Given the description of an element on the screen output the (x, y) to click on. 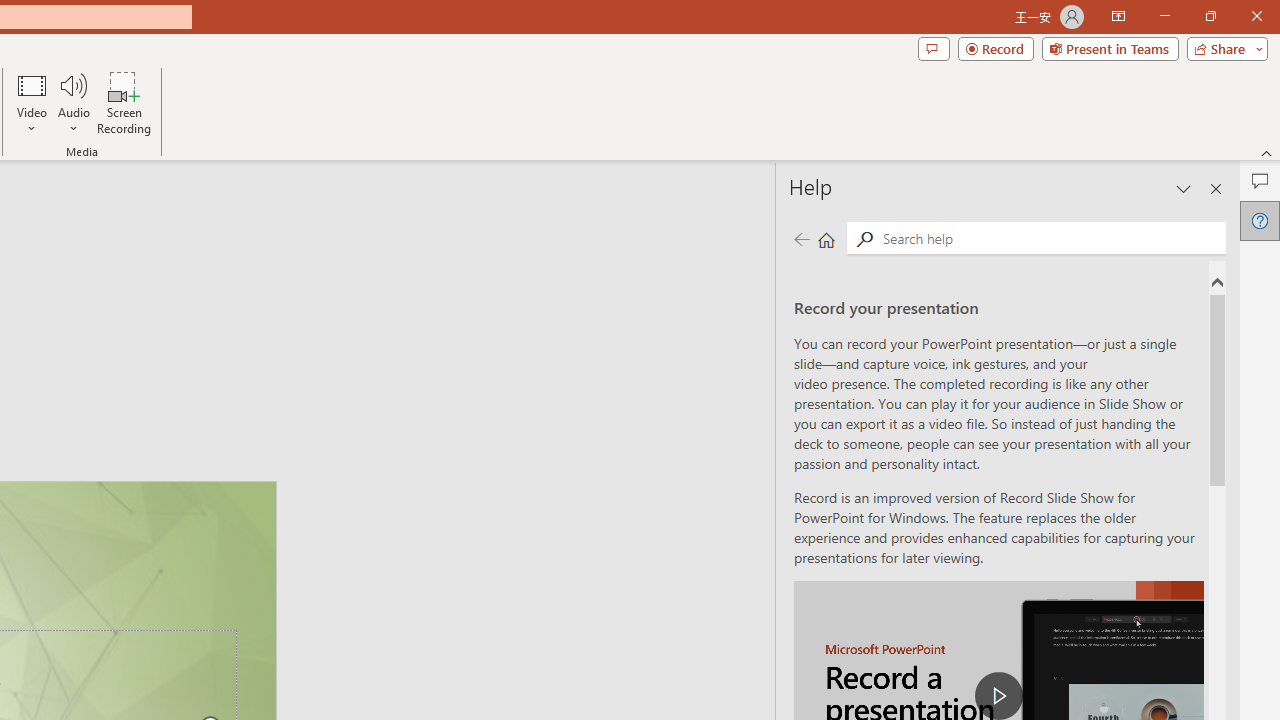
Previous page (801, 238)
Video (31, 102)
Screen Recording... (123, 102)
play Record a Presentation (998, 695)
